Given the description of an element on the screen output the (x, y) to click on. 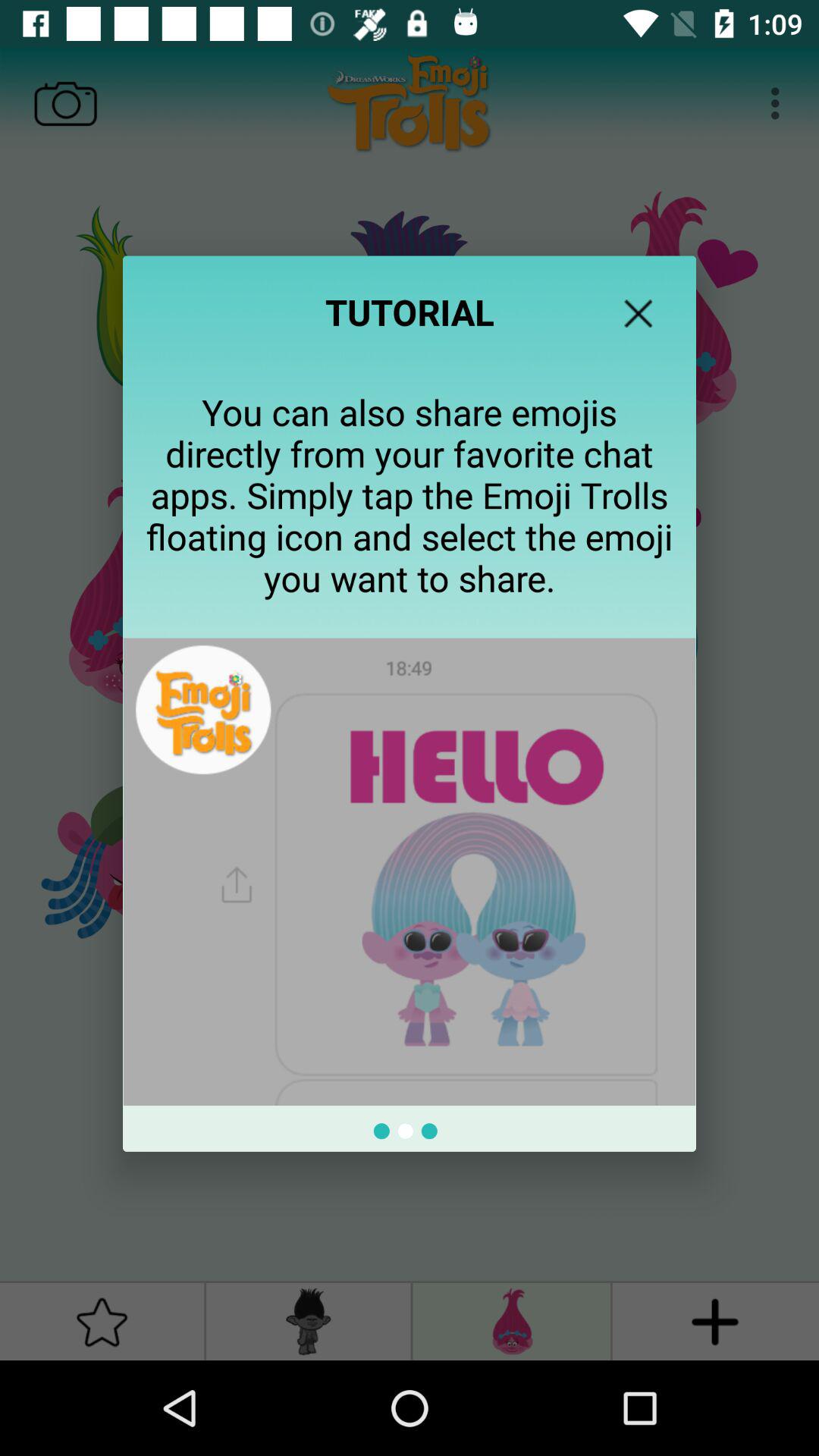
close (638, 313)
